Given the description of an element on the screen output the (x, y) to click on. 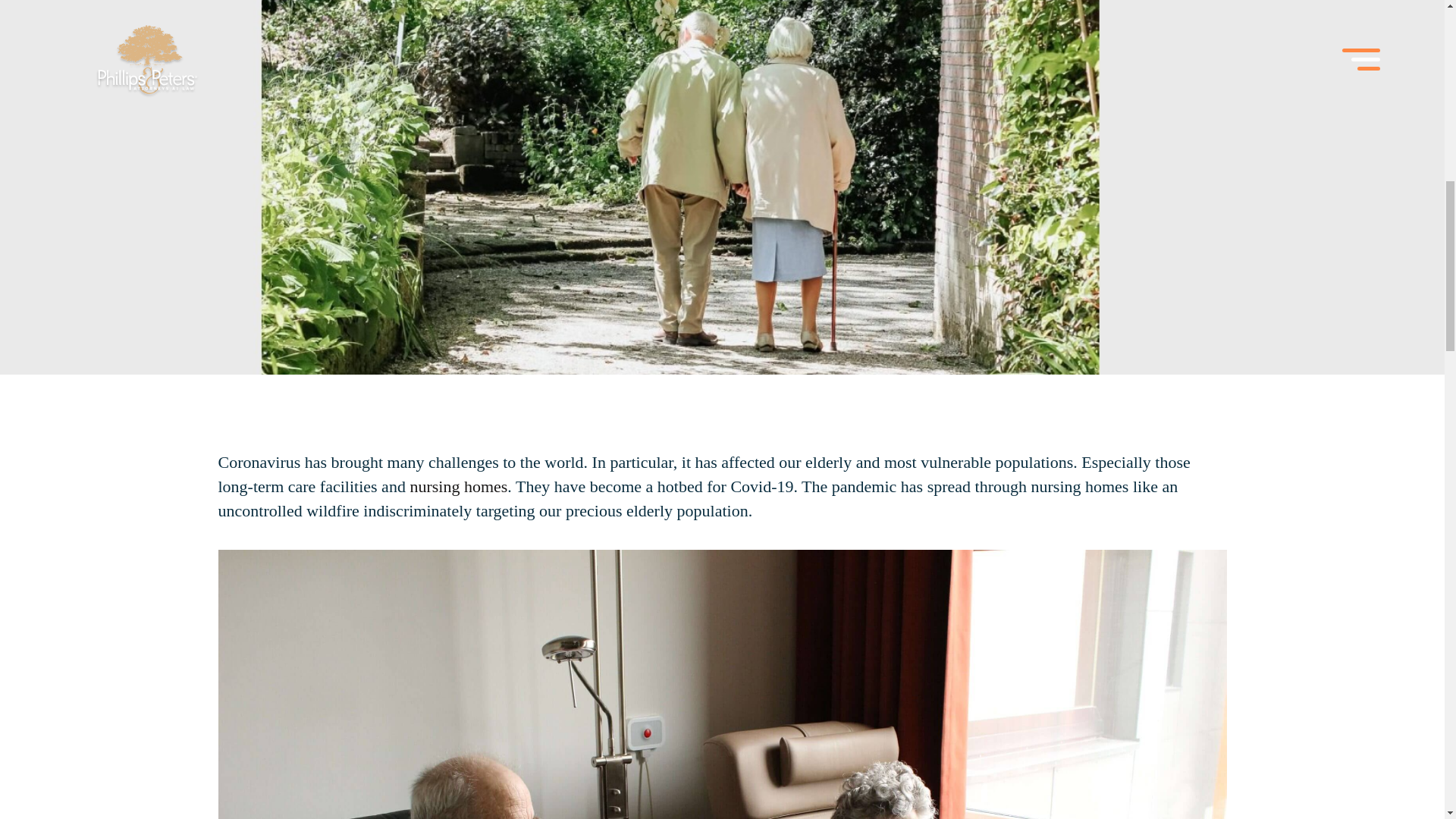
nursing homes (457, 486)
